Given the description of an element on the screen output the (x, y) to click on. 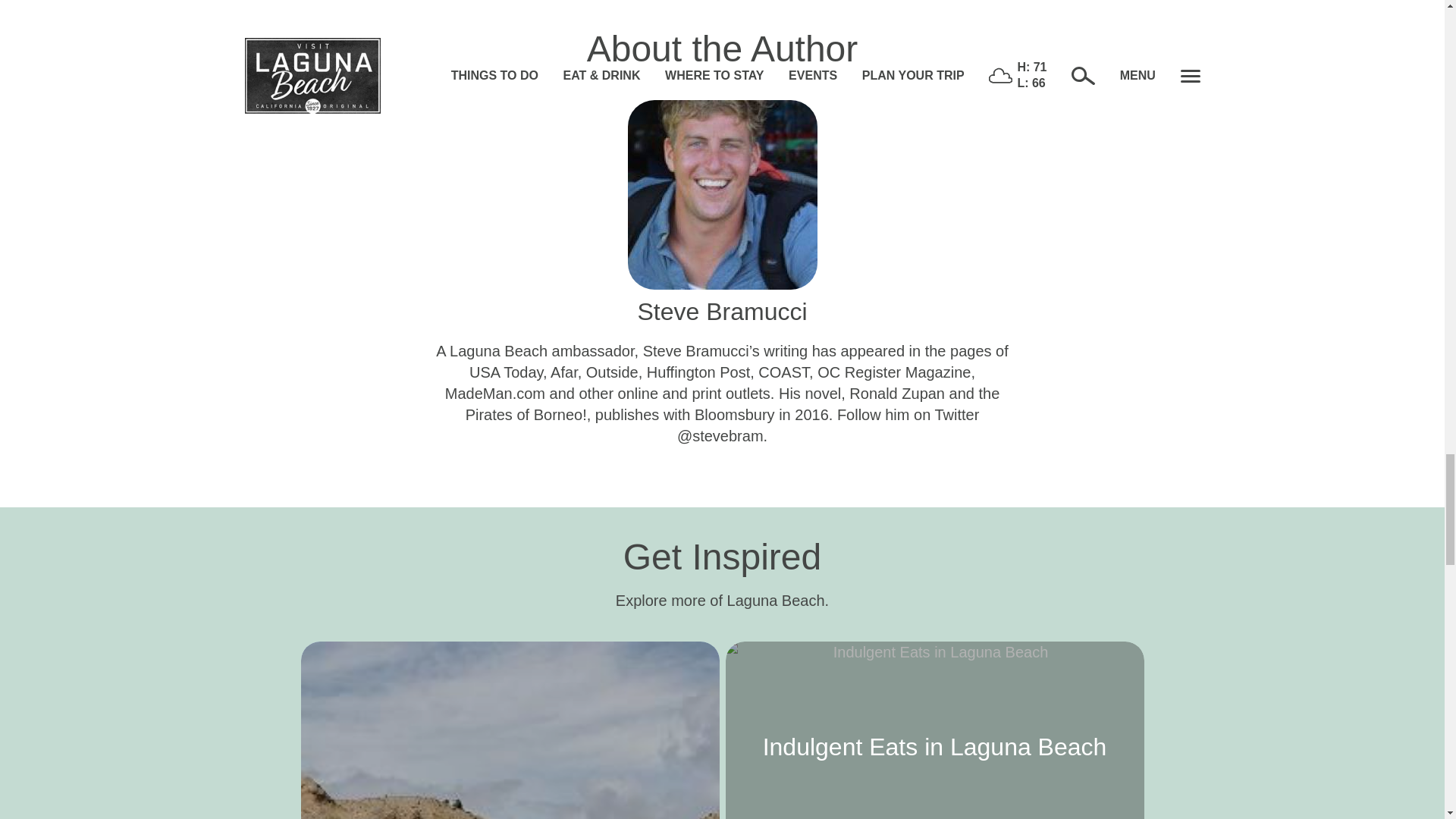
Sunday Funday in Laguna Beach (509, 730)
Indulgent Eats in Laguna Beach (933, 730)
